Given the description of an element on the screen output the (x, y) to click on. 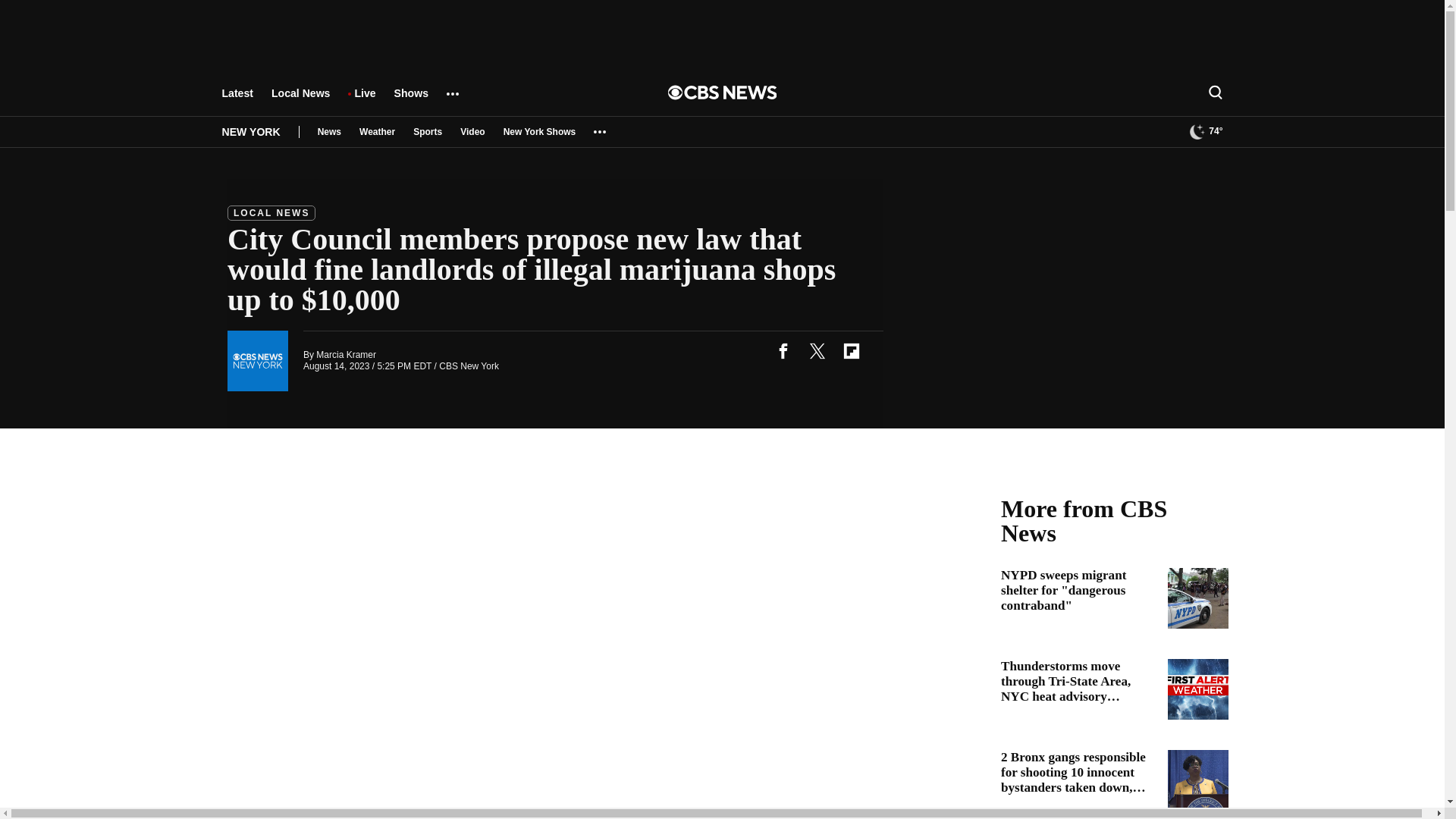
Local News (300, 100)
flipboard (850, 350)
facebook (782, 350)
twitter (816, 350)
Latest (236, 100)
